Given the description of an element on the screen output the (x, y) to click on. 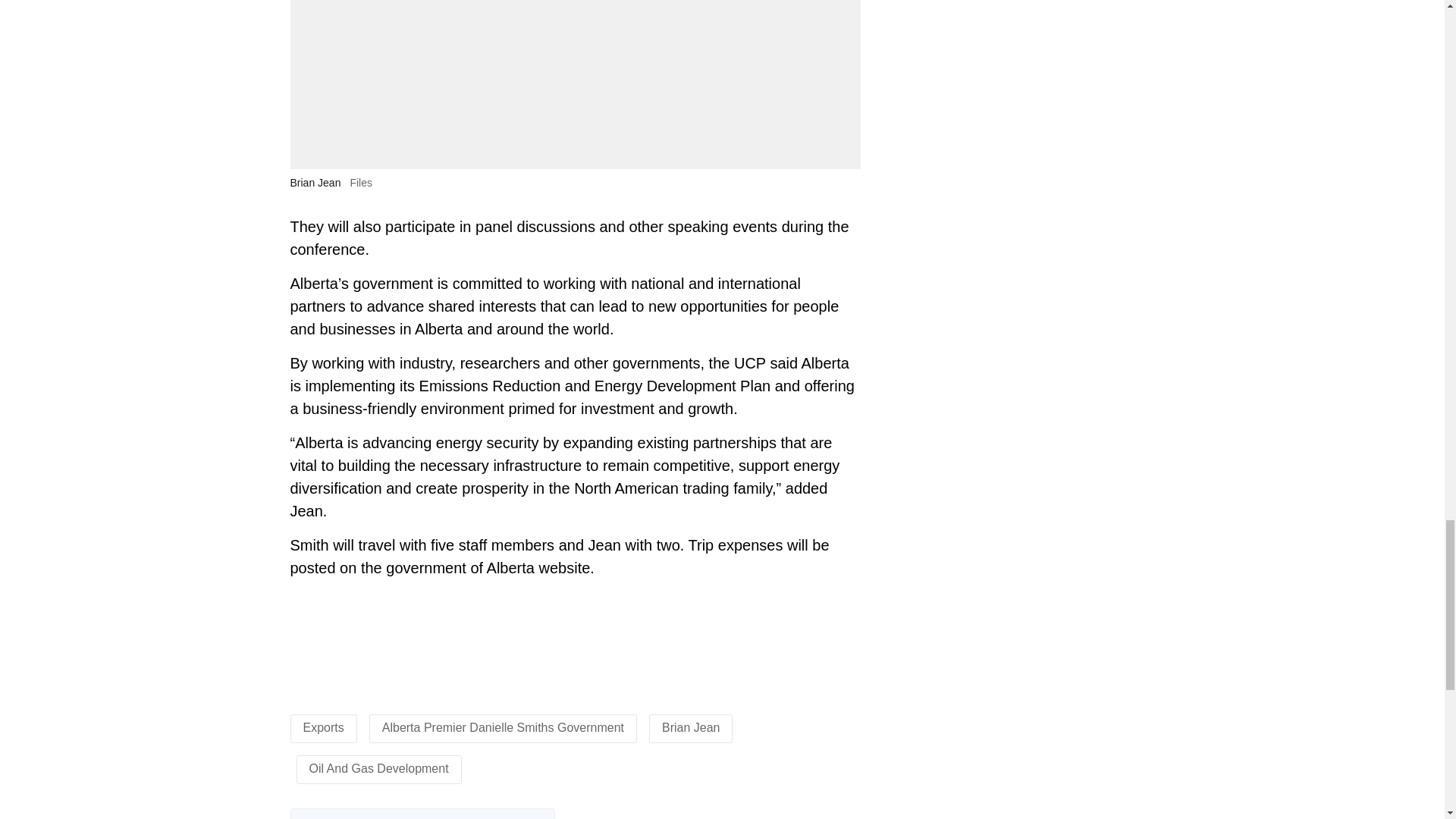
3rd party ad content (574, 643)
